Given the description of an element on the screen output the (x, y) to click on. 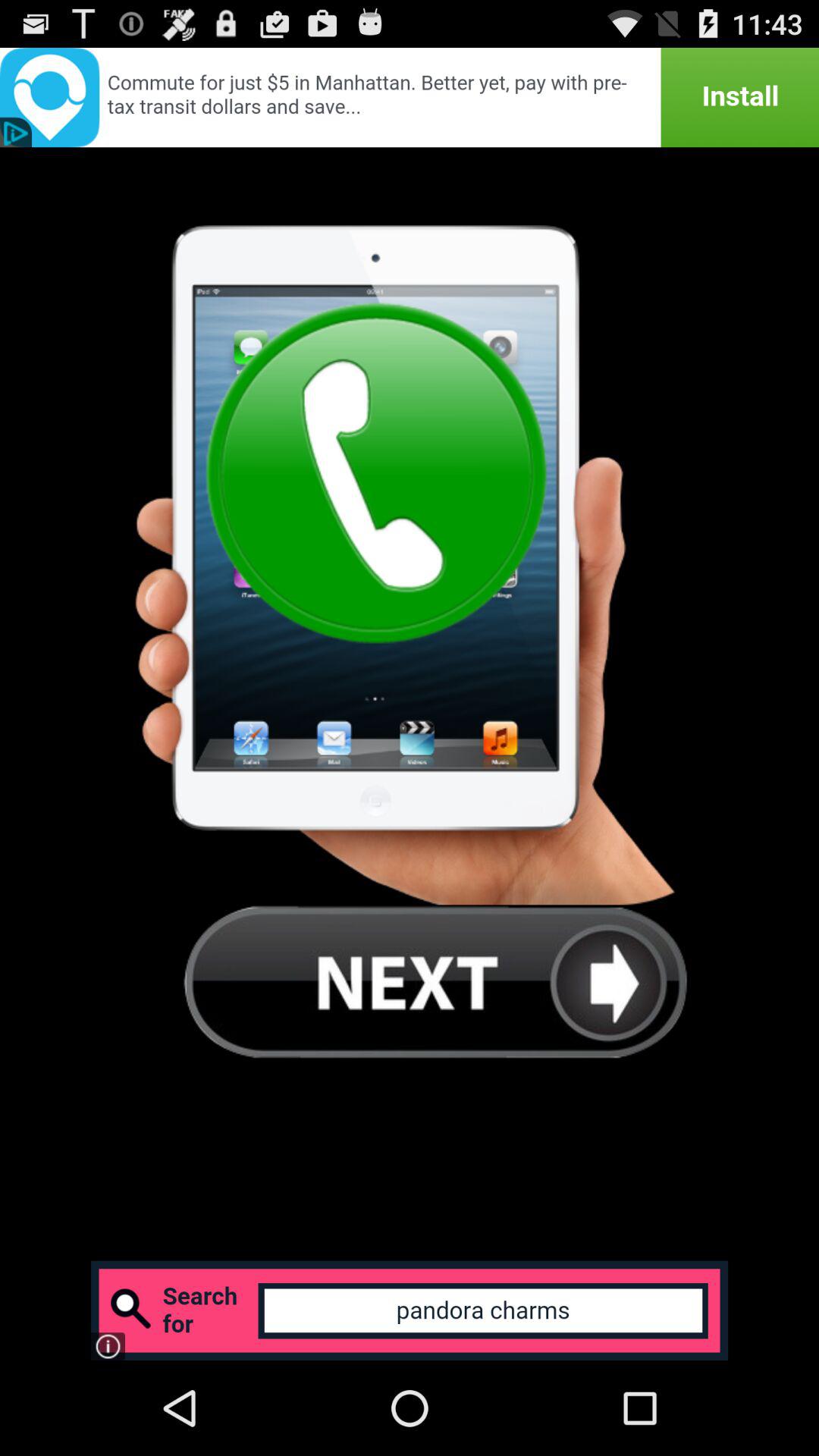
go to next (435, 981)
